Given the description of an element on the screen output the (x, y) to click on. 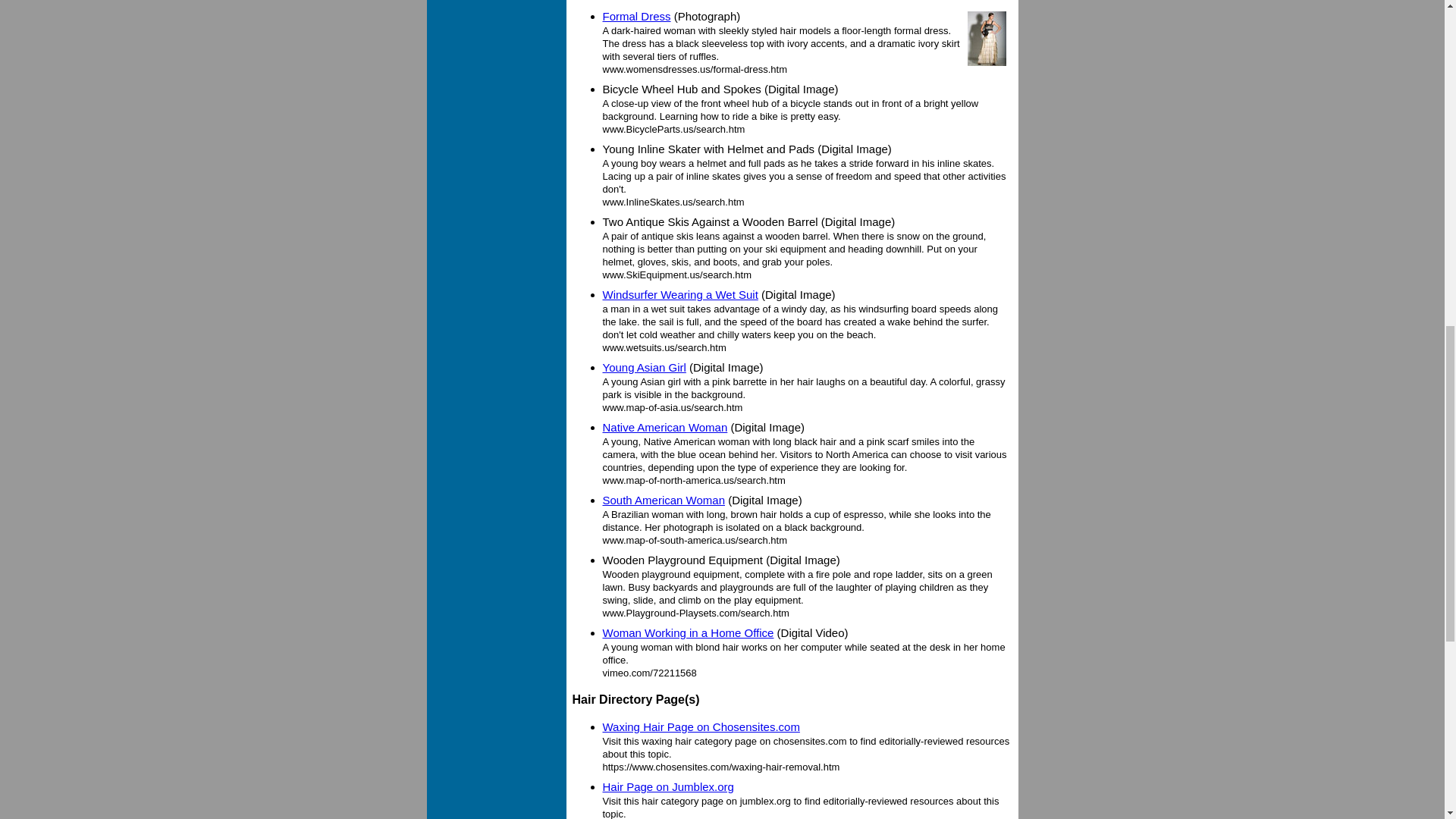
Waxing Hair Page on Chosensites.com (700, 726)
Windsurfer Wearing a Wet Suit (679, 294)
South American Woman (662, 499)
Hair Page on Jumblex.org (667, 786)
Formal Dress (635, 15)
Woman Working in a Home Office (687, 632)
Native American Woman (664, 427)
Young Asian Girl (643, 367)
